Given the description of an element on the screen output the (x, y) to click on. 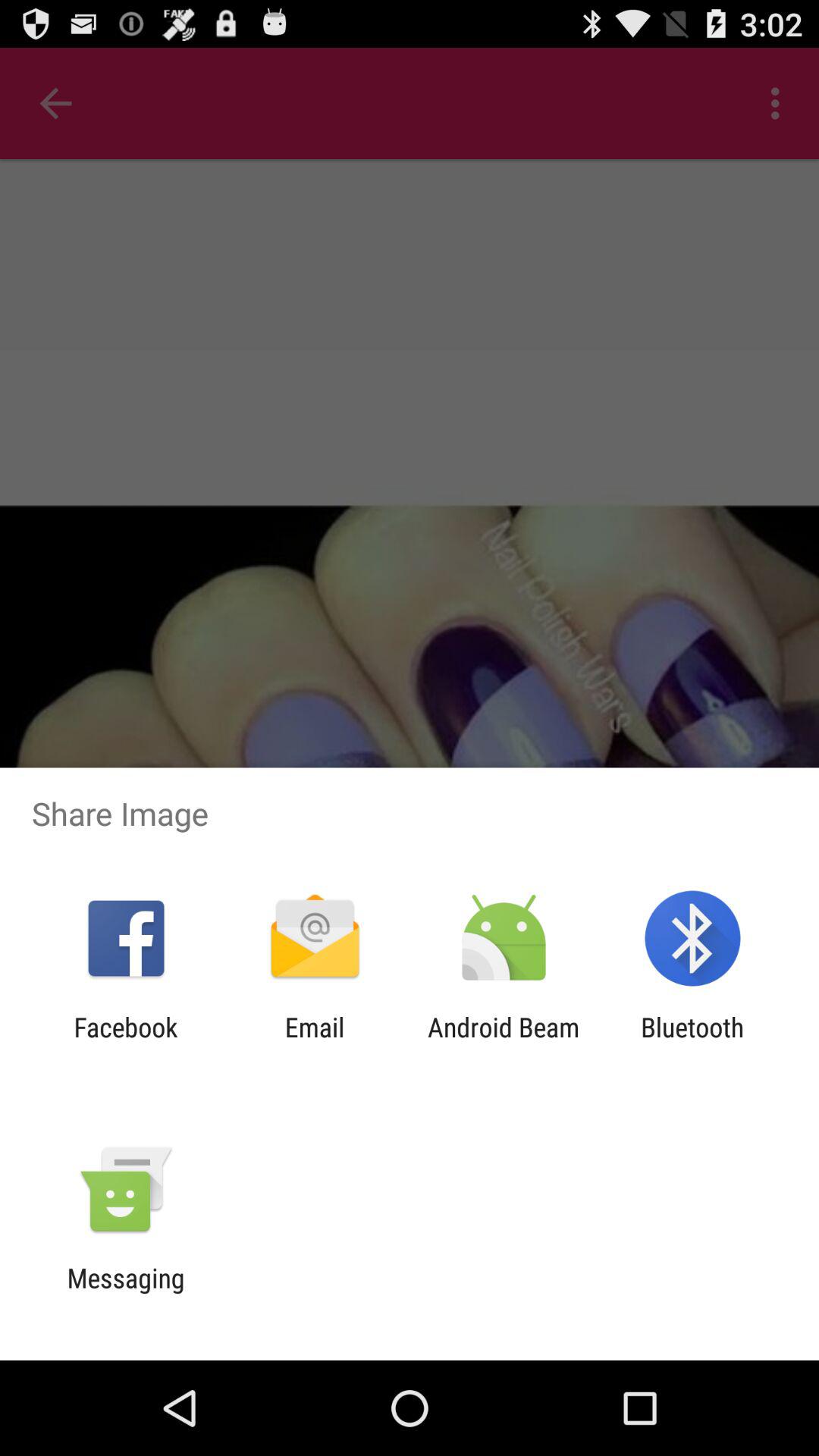
turn on app to the left of email icon (125, 1042)
